Given the description of an element on the screen output the (x, y) to click on. 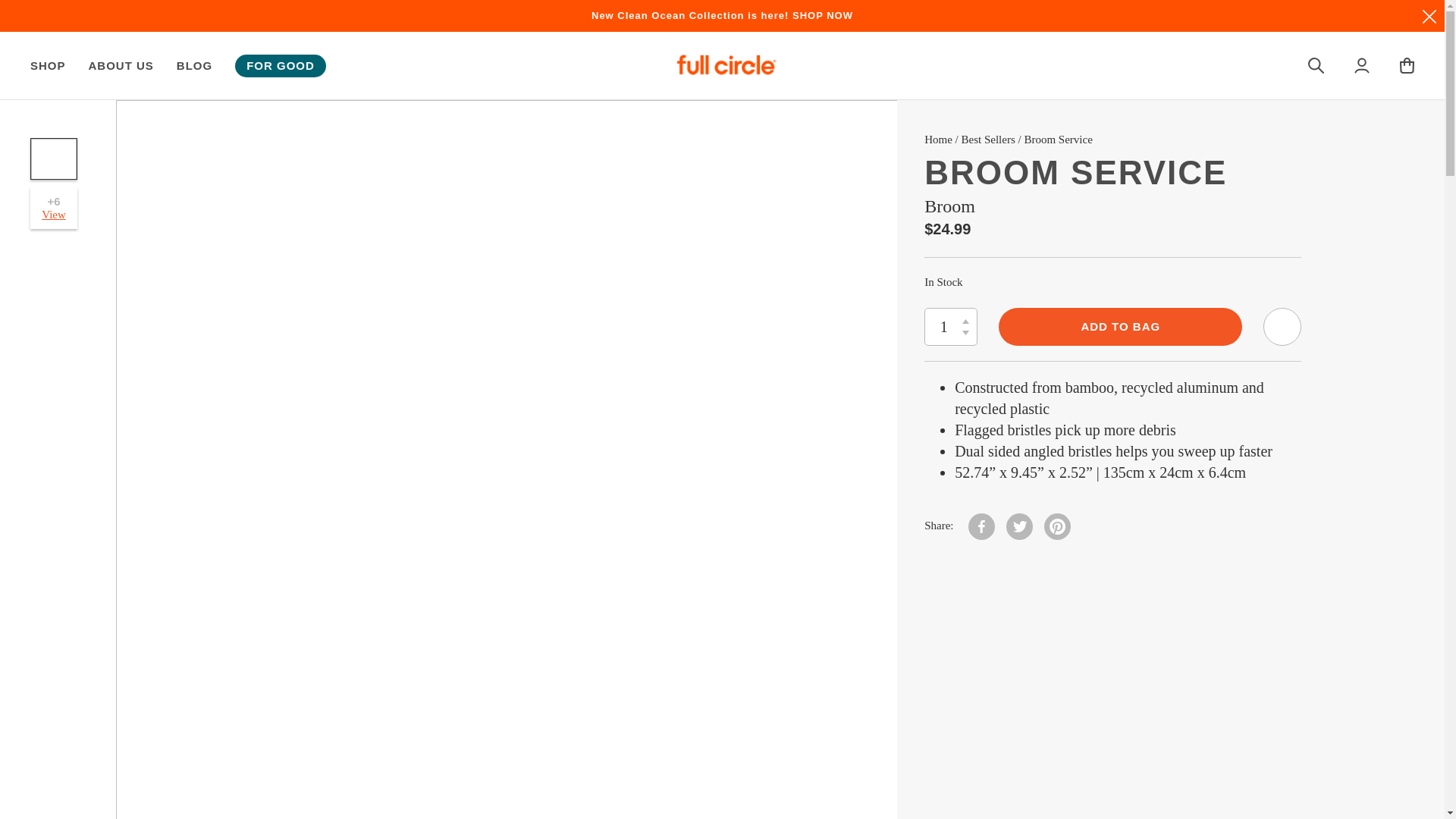
New Clean Ocean Collection is here! SHOP NOW (722, 15)
Clean Ocean (722, 15)
ABOUT US (121, 65)
Home (938, 139)
FOR GOOD (280, 65)
close (1429, 17)
